Given the description of an element on the screen output the (x, y) to click on. 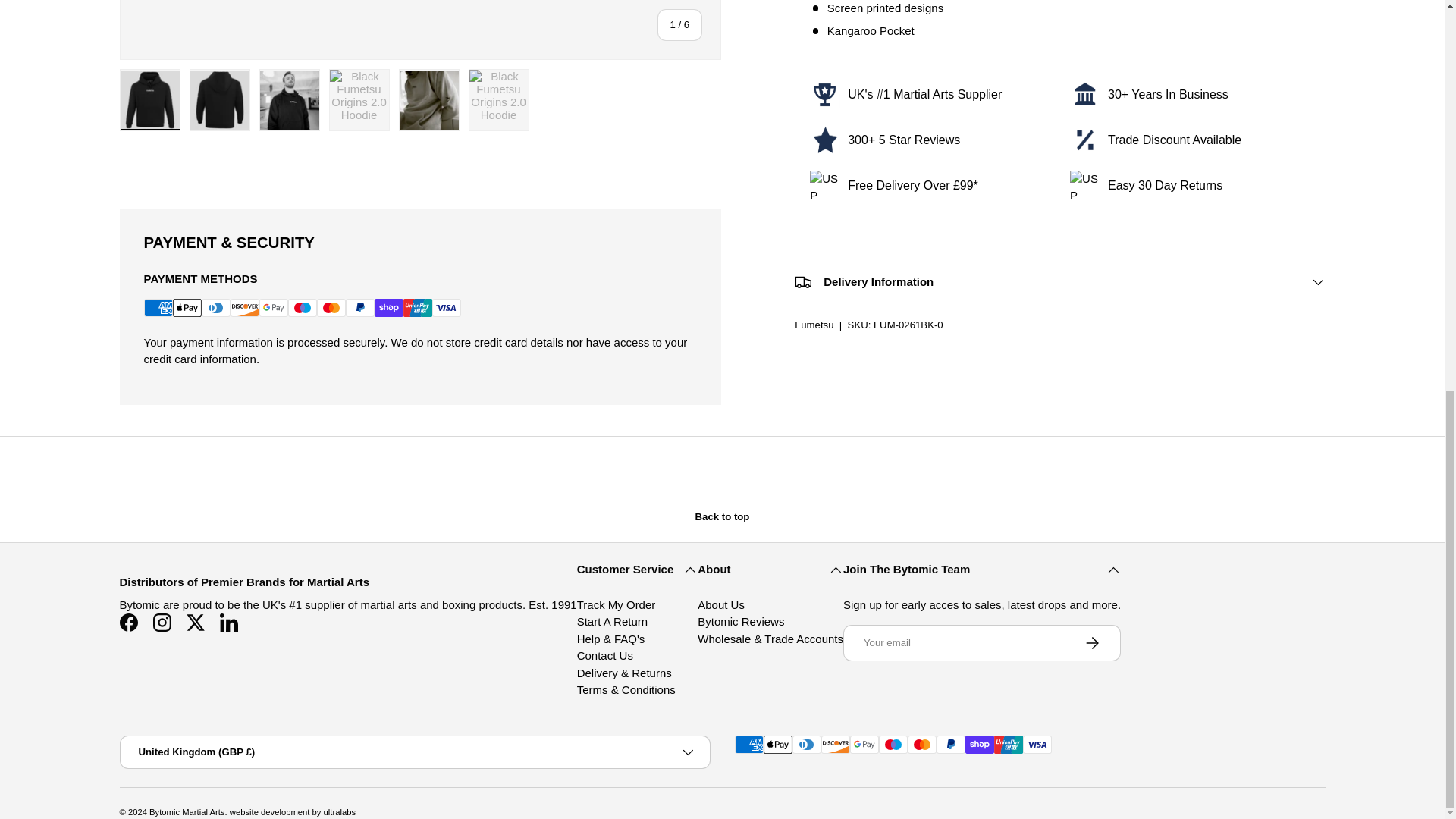
Bytomic Martial Arts on Facebook (128, 622)
Bytomic Martial Arts on LinkedIn (229, 622)
Bytomic Martial Arts on Twitter (195, 622)
Bytomic Martial Arts on Instagram (162, 622)
